Given the description of an element on the screen output the (x, y) to click on. 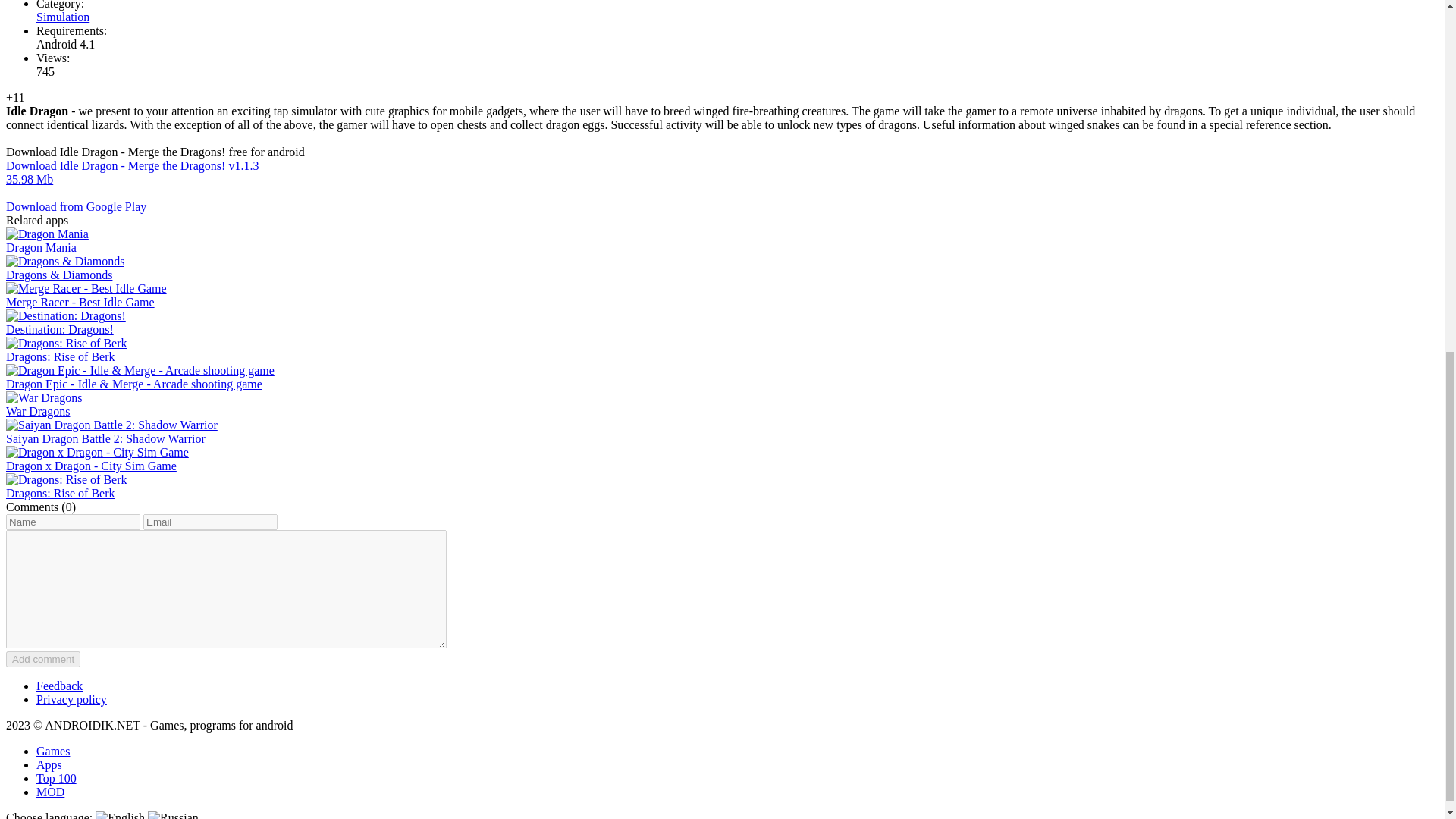
Feedback (59, 685)
Simulation (62, 16)
Add comment (42, 659)
